Given the description of an element on the screen output the (x, y) to click on. 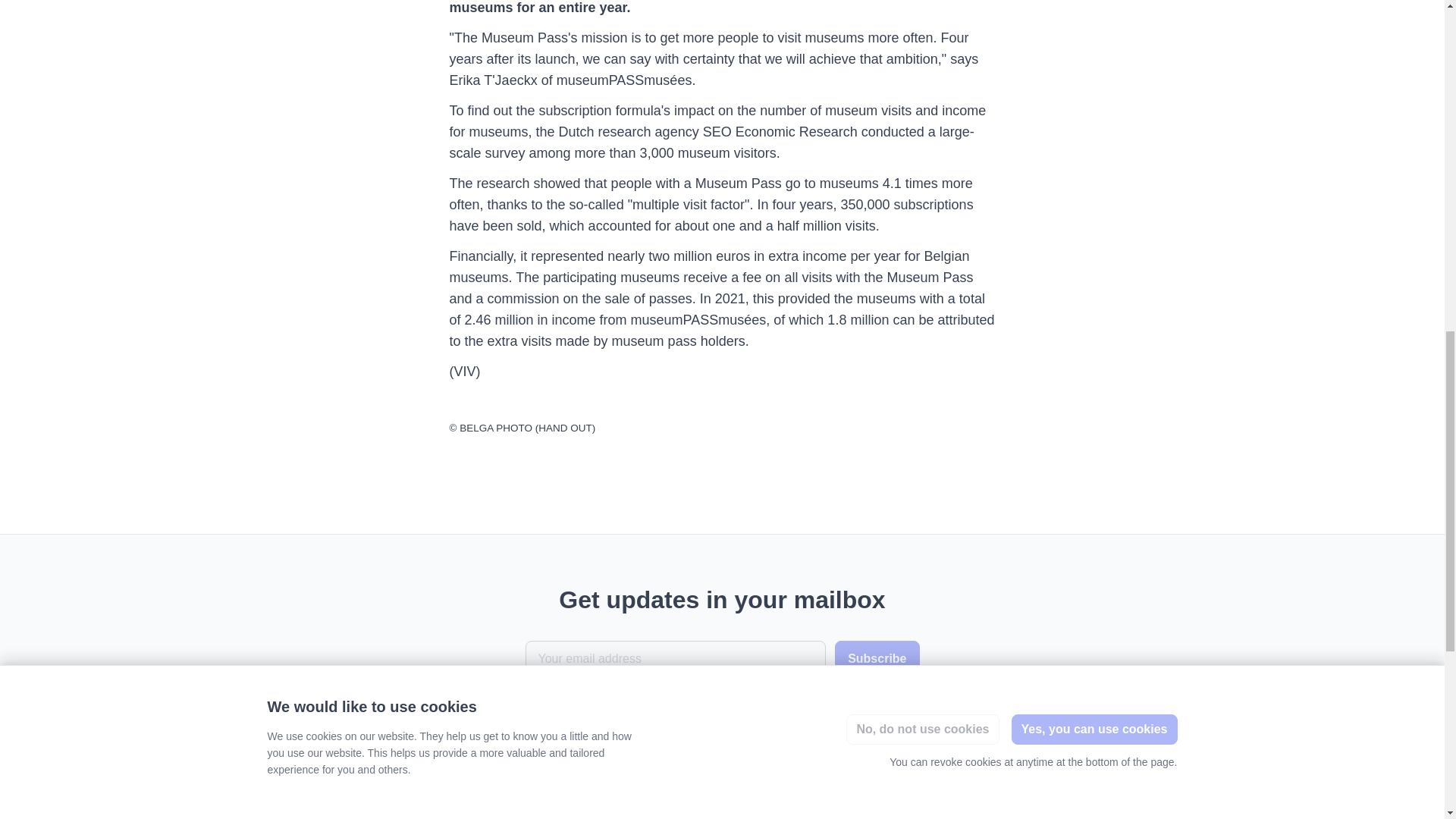
Subscribe (876, 658)
Privacy Policy (865, 700)
